Given the description of an element on the screen output the (x, y) to click on. 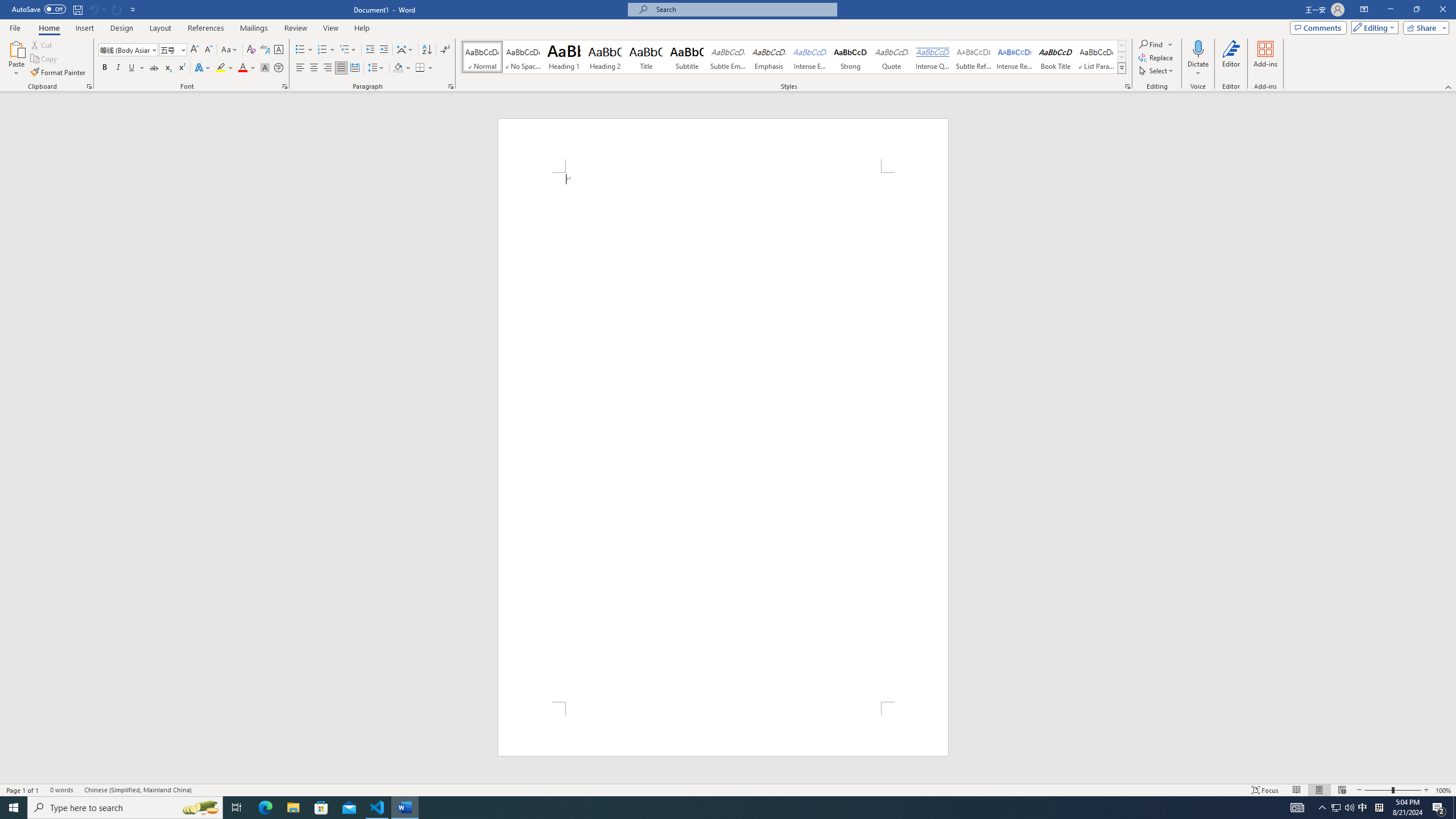
Zoom 100% (1443, 790)
Can't Repeat (117, 9)
